Given the description of an element on the screen output the (x, y) to click on. 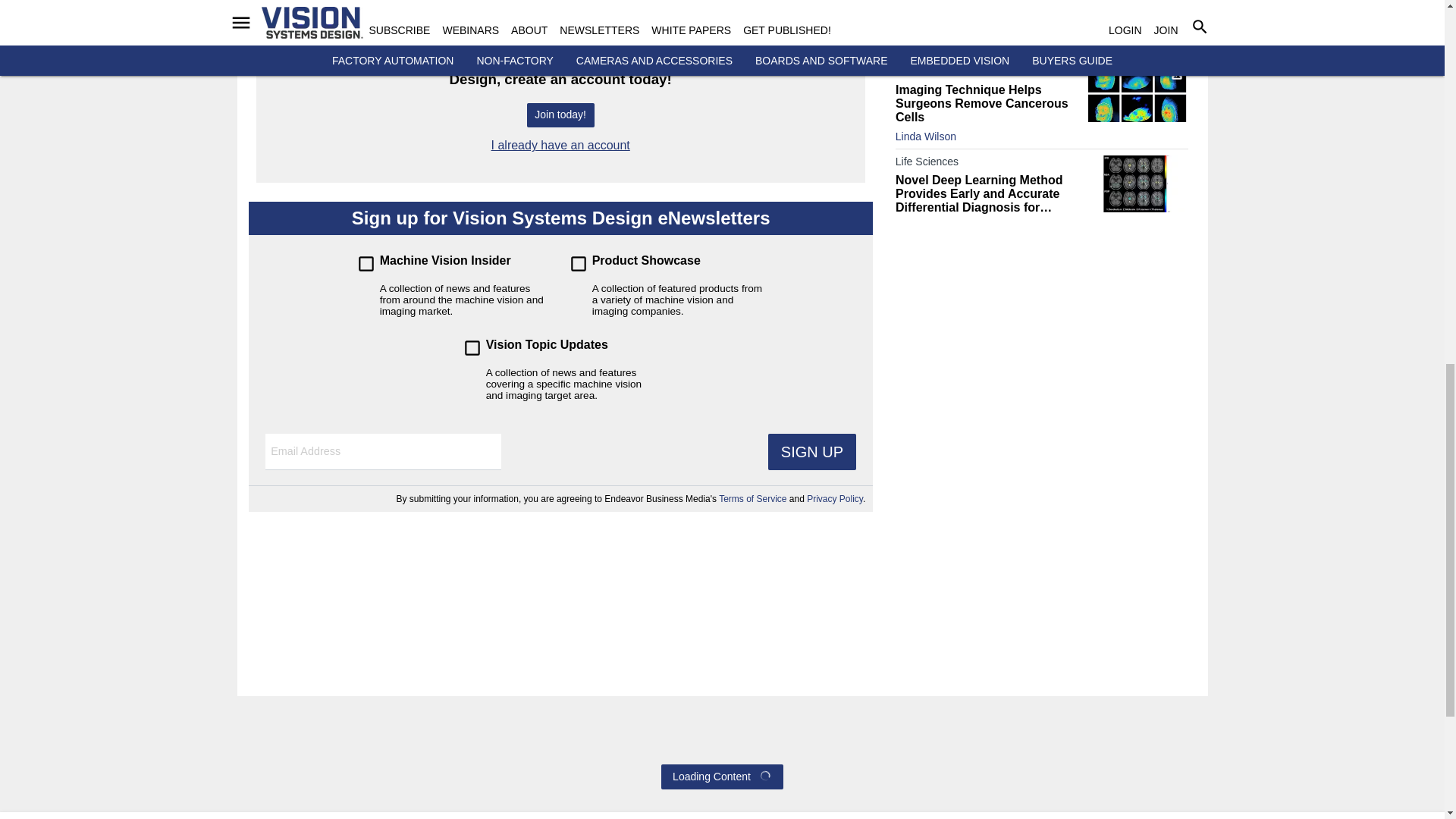
Vsd011823 Pw3 (1137, 24)
